Given the description of an element on the screen output the (x, y) to click on. 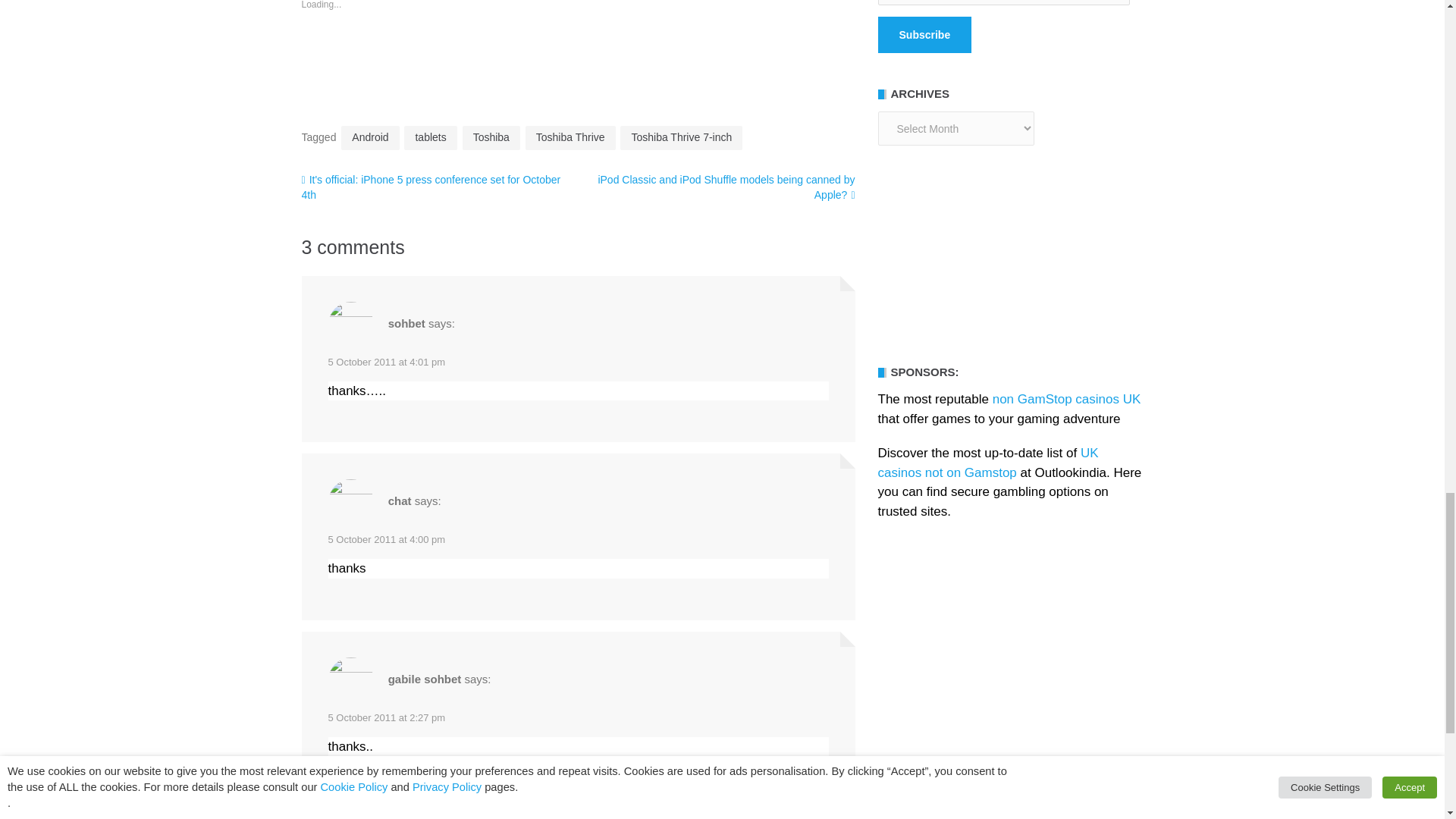
Type your email in here (1003, 2)
Type your email in here (1003, 2)
